Given the description of an element on the screen output the (x, y) to click on. 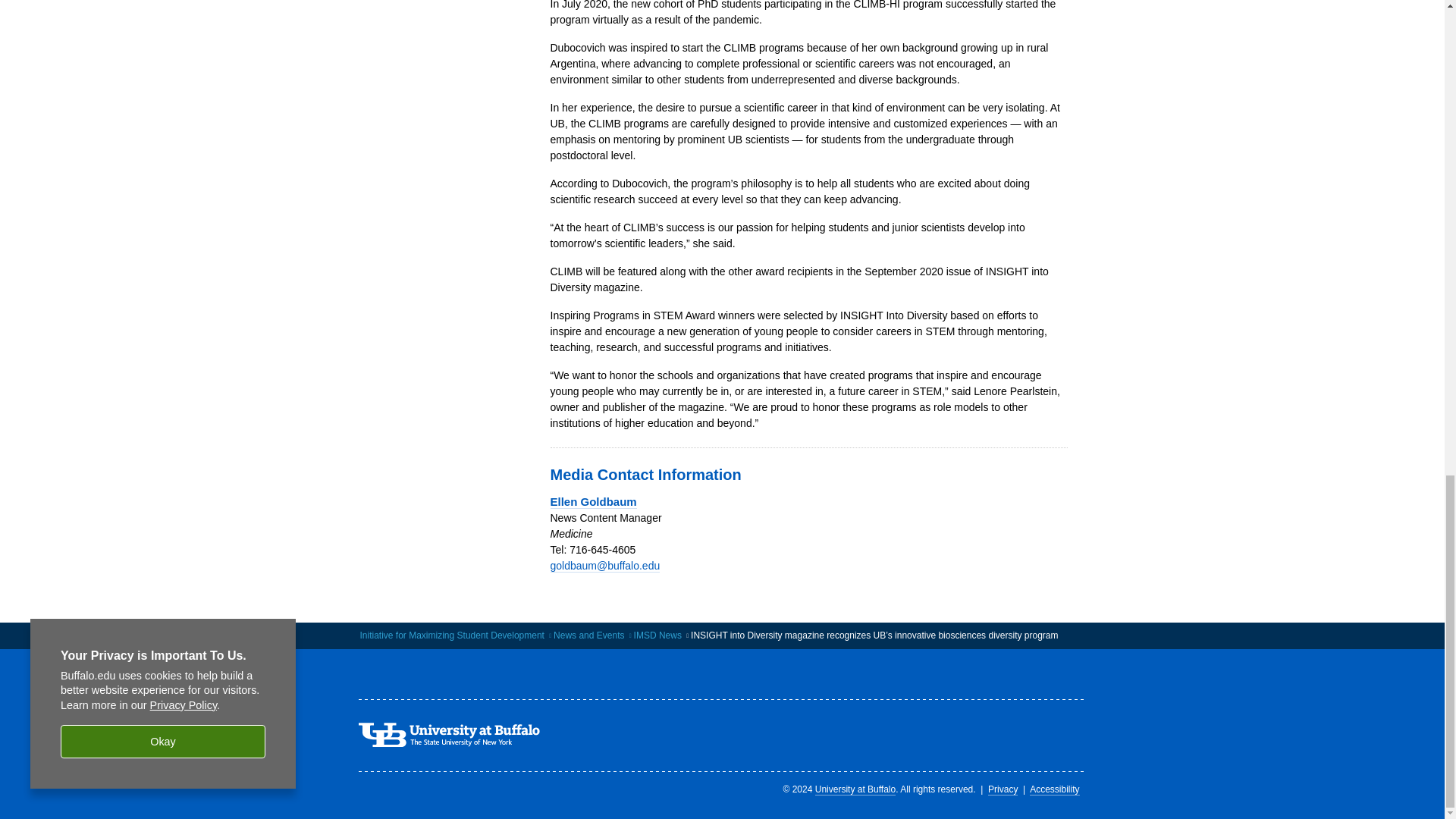
IMSD News (657, 634)
News and Events (588, 634)
Initiative for Maximizing Student Development (451, 634)
Ellen Goldbaum (593, 501)
